Given the description of an element on the screen output the (x, y) to click on. 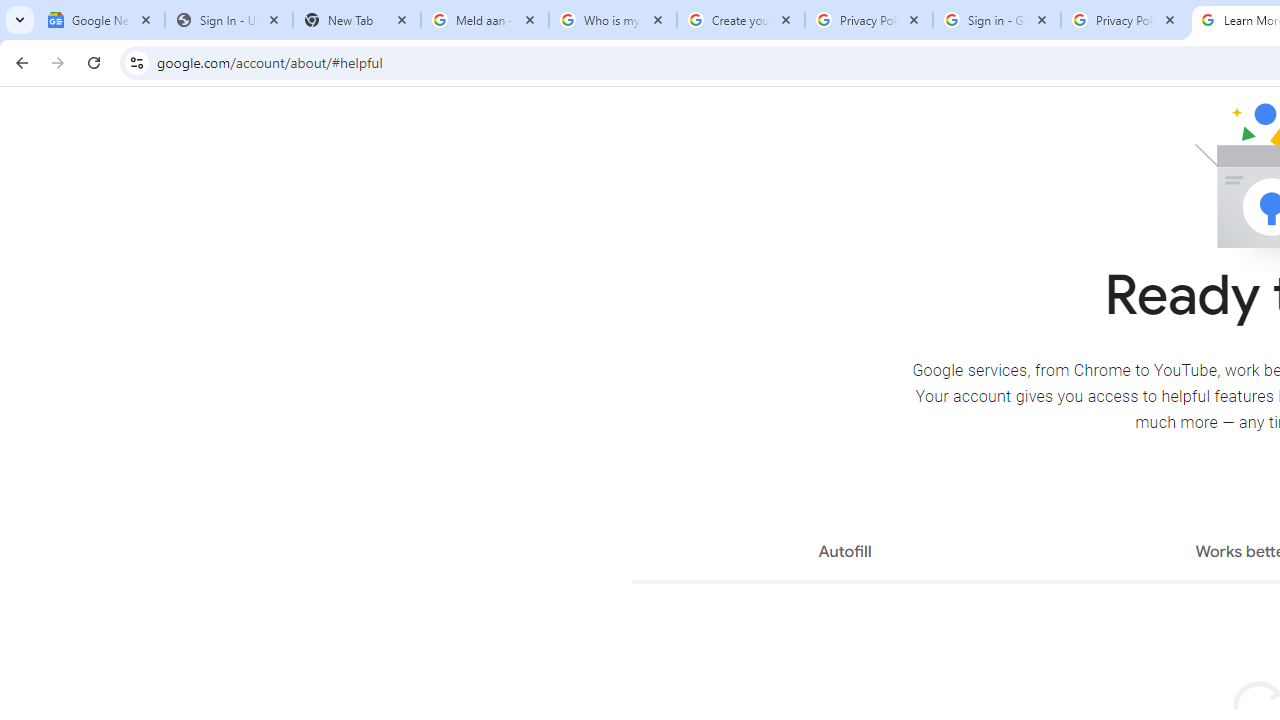
Sign in - Google Accounts (997, 20)
